Given the description of an element on the screen output the (x, y) to click on. 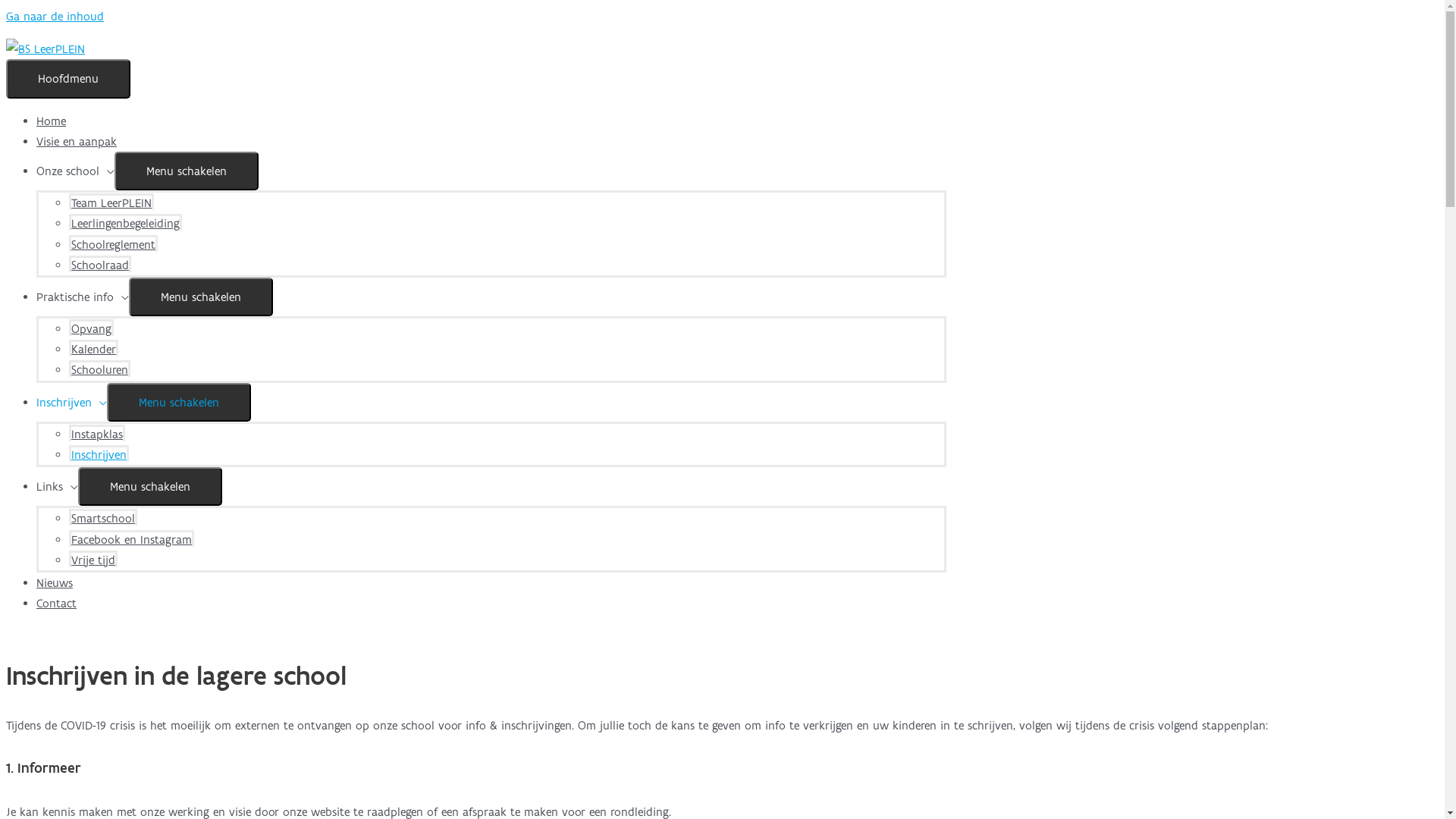
Team LeerPLEIN Element type: text (111, 201)
Menu schakelen Element type: text (186, 170)
Kalender Element type: text (93, 347)
Menu schakelen Element type: text (178, 401)
Vrije tijd Element type: text (93, 558)
Contact Element type: text (56, 603)
Visie en aanpak Element type: text (76, 141)
Schooluren Element type: text (99, 368)
Praktische info Element type: text (82, 296)
Smartschool Element type: text (103, 516)
Nieuws Element type: text (54, 582)
Home Element type: text (50, 120)
Onze school Element type: text (75, 170)
Opvang Element type: text (91, 327)
Leerlingenbegeleiding Element type: text (125, 221)
Inschrijven Element type: text (71, 402)
Links Element type: text (57, 486)
Schoolreglement Element type: text (113, 243)
Schoolraad Element type: text (100, 263)
Facebook en Instagram Element type: text (131, 538)
Menu schakelen Element type: text (150, 486)
Hoofdmenu Element type: text (68, 78)
Inschrijven Element type: text (98, 453)
Instapklas Element type: text (97, 432)
Ga naar de inhoud Element type: text (54, 16)
Menu schakelen Element type: text (200, 296)
